Given the description of an element on the screen output the (x, y) to click on. 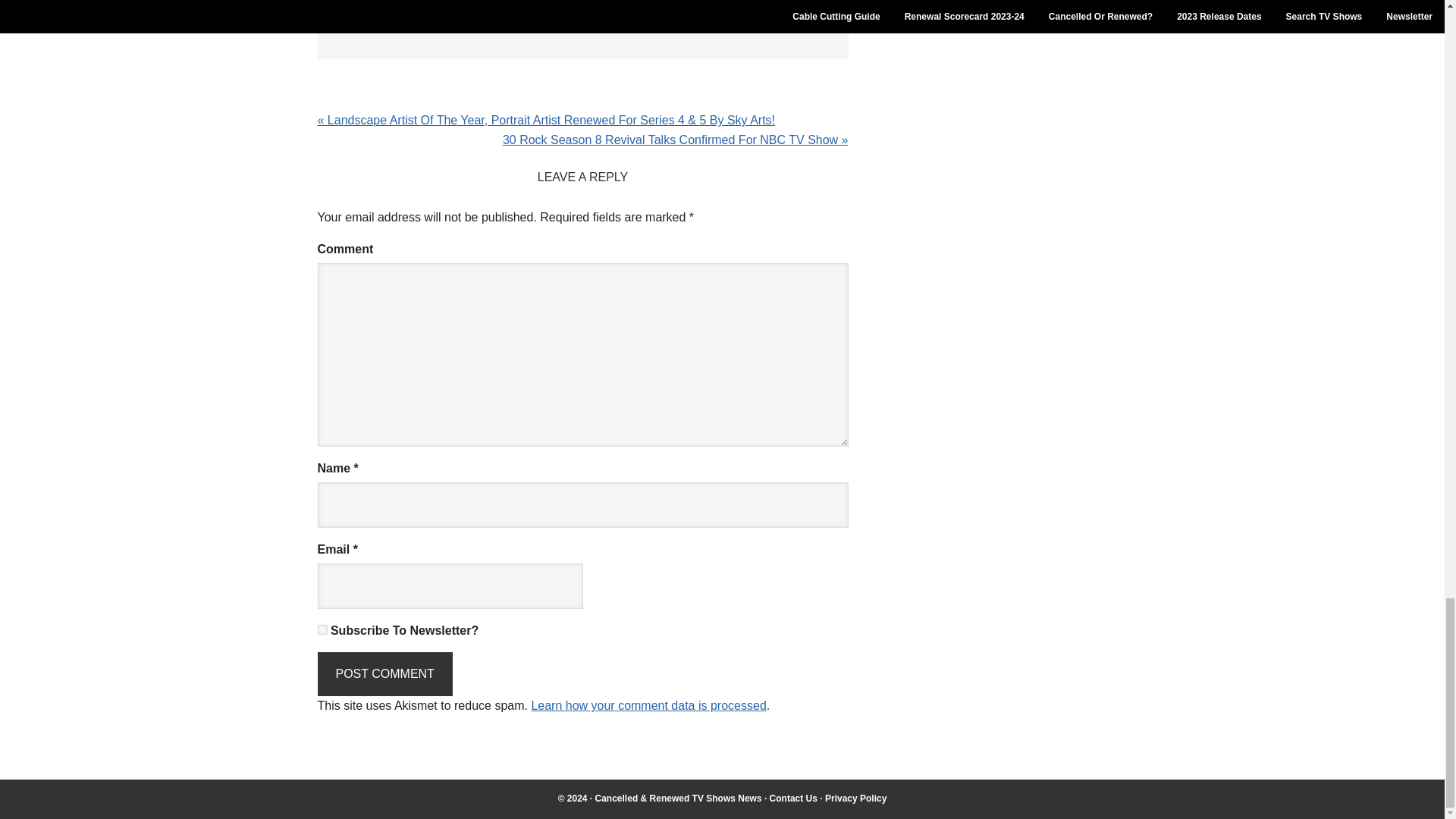
RenewCancelTV (678, 798)
1 (321, 629)
Post Comment (384, 673)
